Given the description of an element on the screen output the (x, y) to click on. 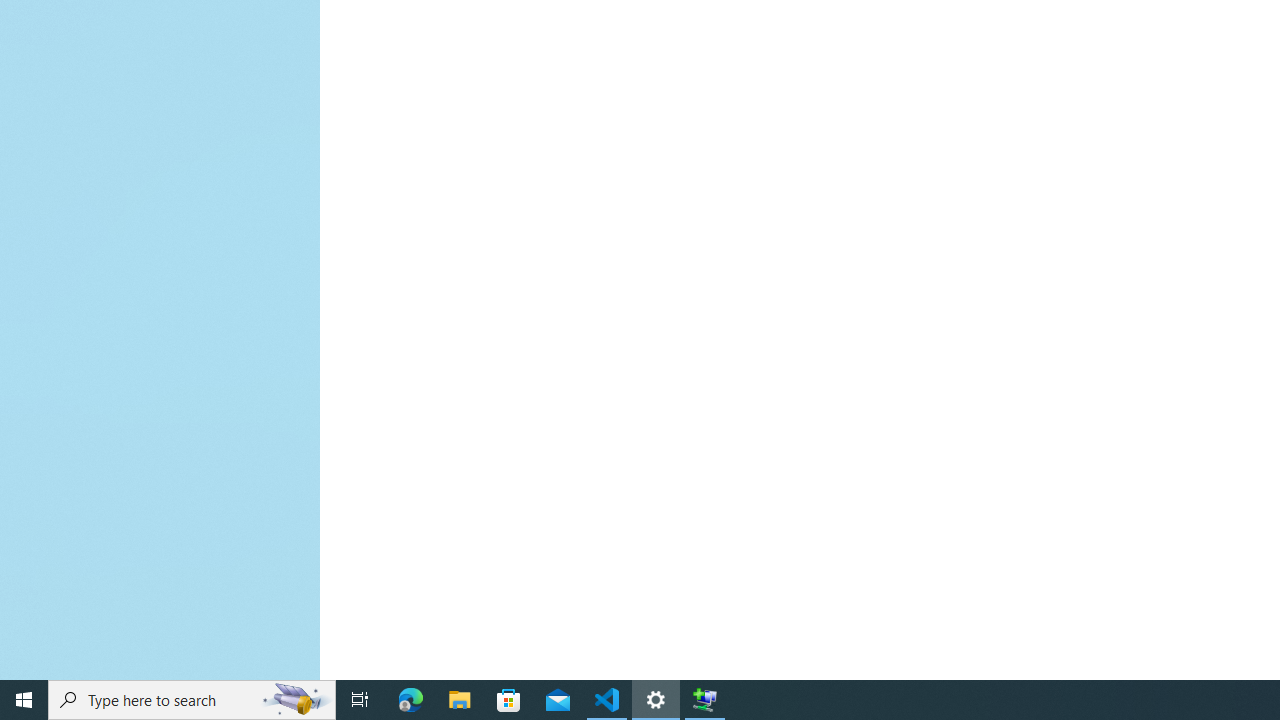
Extensible Wizards Host Process - 1 running window (704, 699)
